Given the description of an element on the screen output the (x, y) to click on. 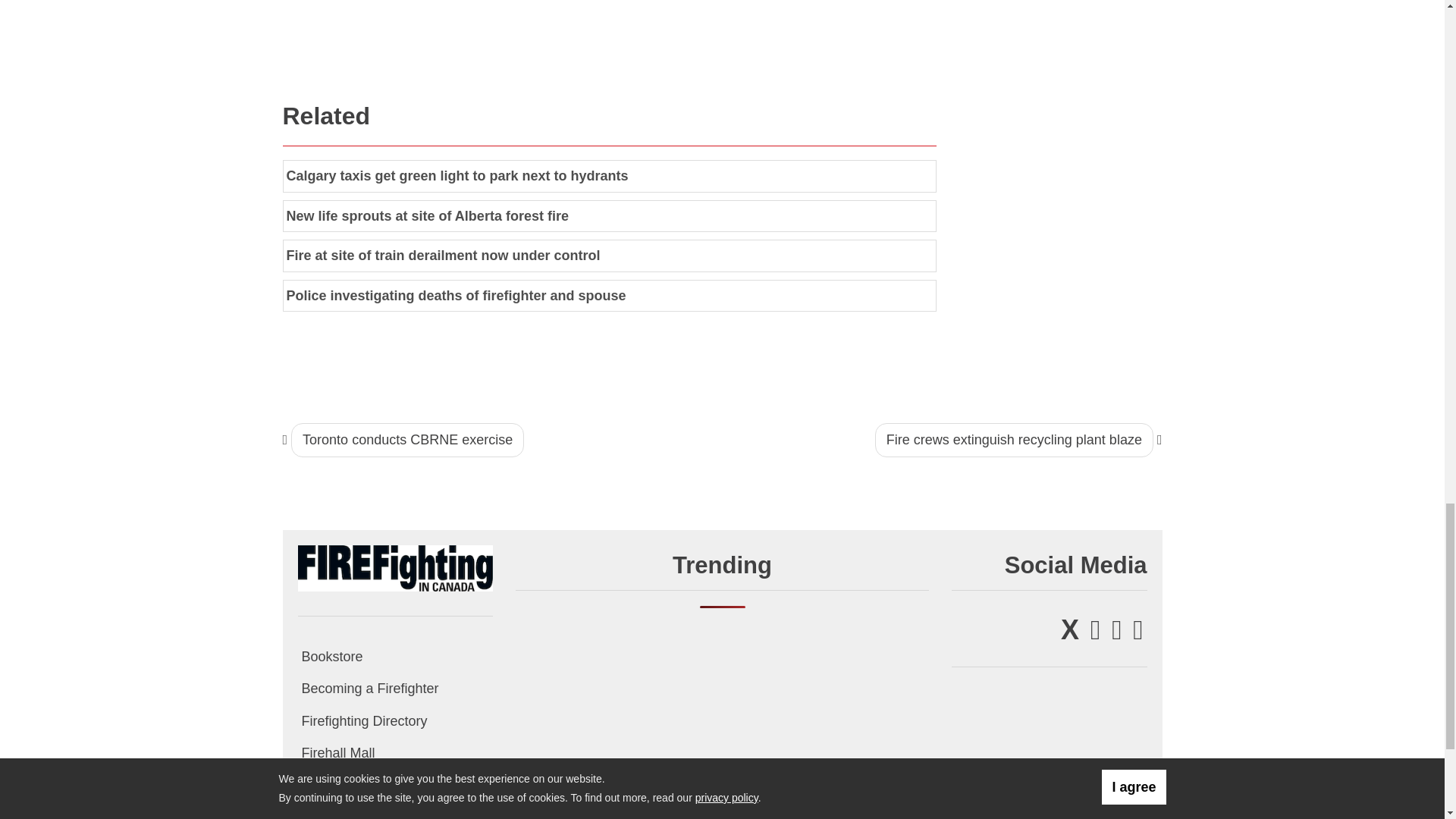
Fire Fighting in Canada (395, 566)
